Given the description of an element on the screen output the (x, y) to click on. 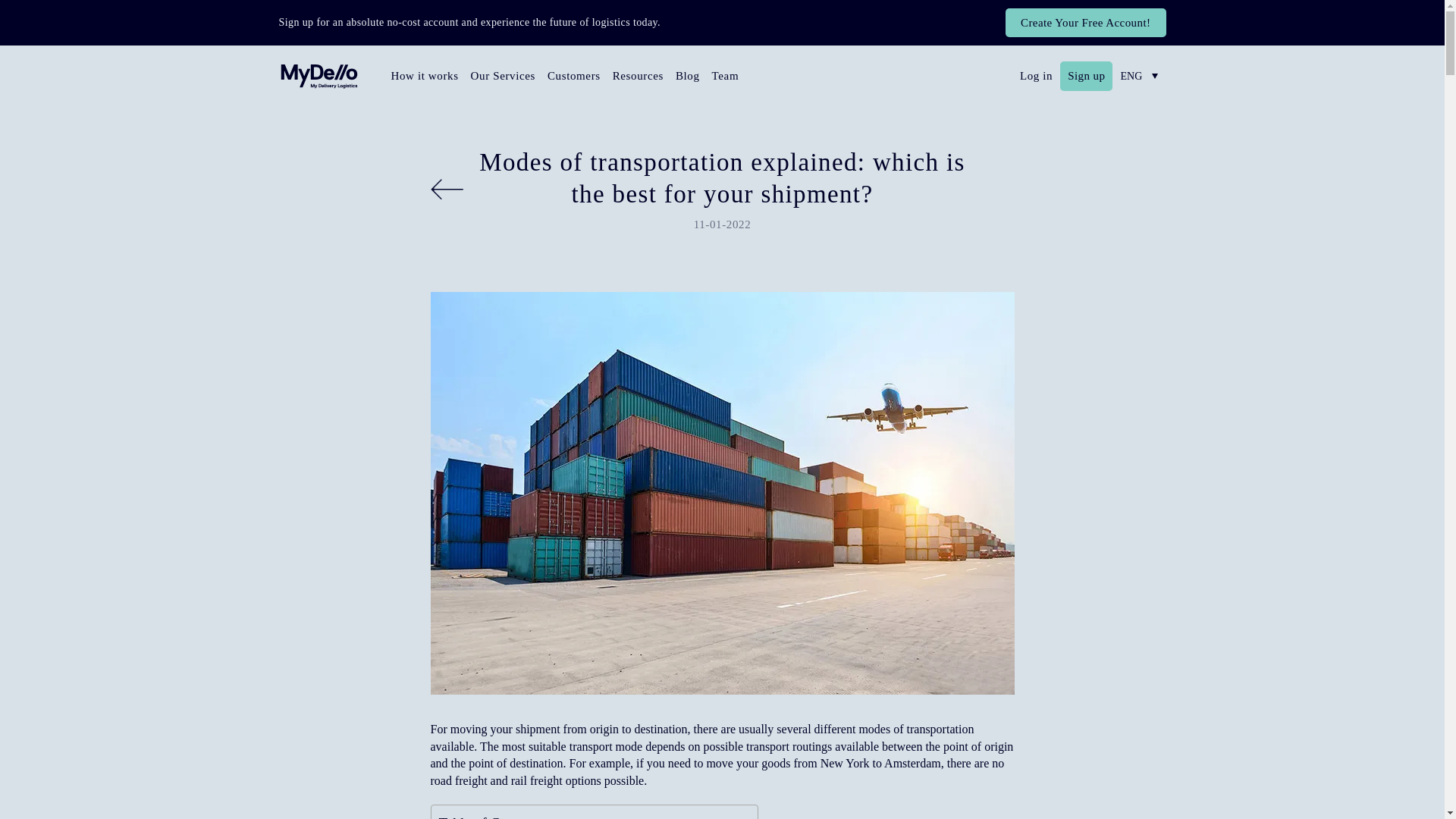
Log in (1035, 75)
Customers (574, 77)
Blog (687, 77)
How it works (424, 77)
Sign up (1085, 75)
Our Services (502, 77)
Resources (638, 77)
ENG (1139, 76)
Team (725, 77)
Create Your Free Account! (1086, 22)
